Given the description of an element on the screen output the (x, y) to click on. 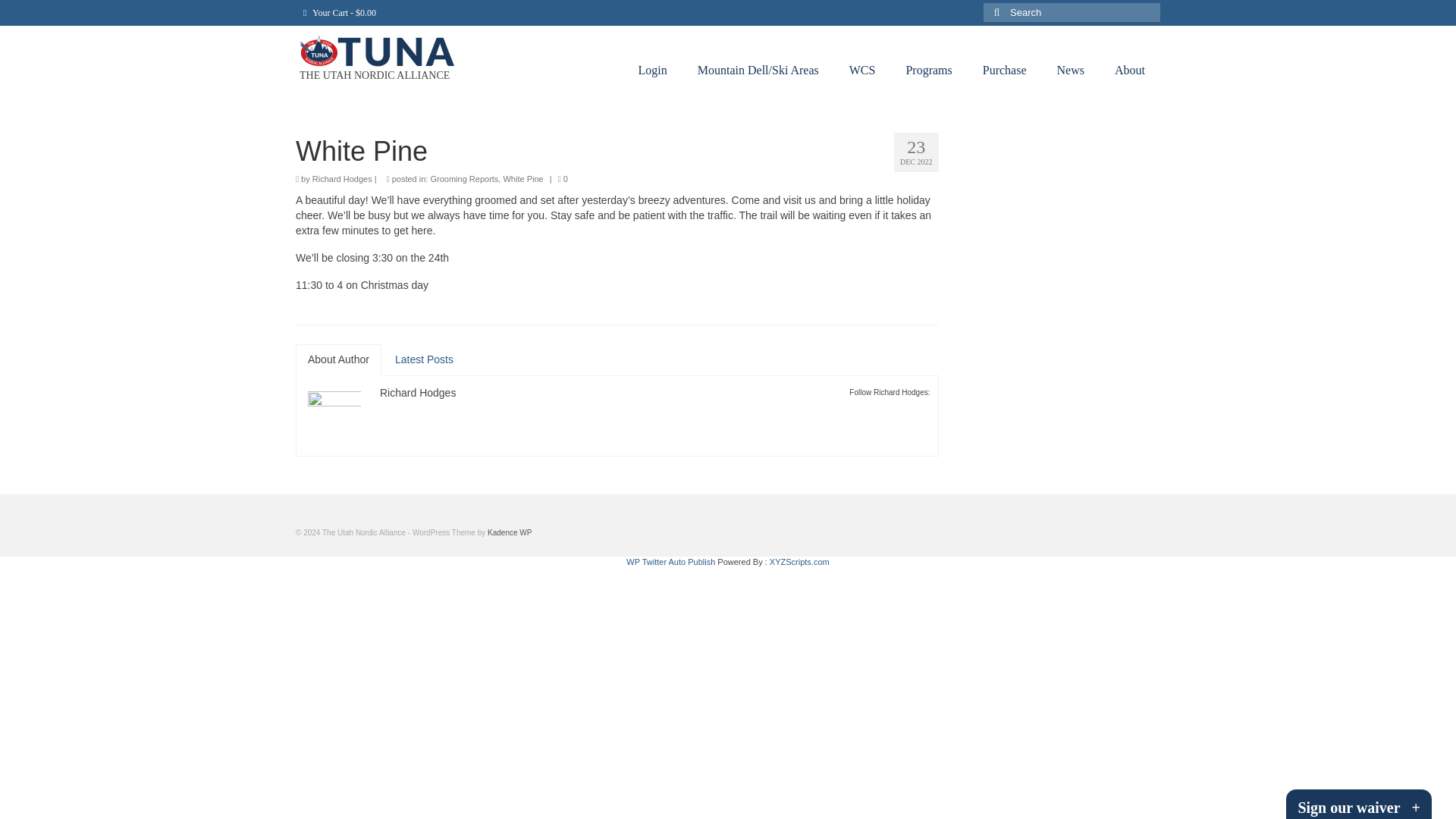
View your shopping cart (339, 12)
Posts by Richard Hodges (417, 392)
WP Twitter Auto Publish (670, 561)
Programs (927, 70)
Purchase (1005, 70)
WCS (862, 70)
Login (652, 70)
